Given the description of an element on the screen output the (x, y) to click on. 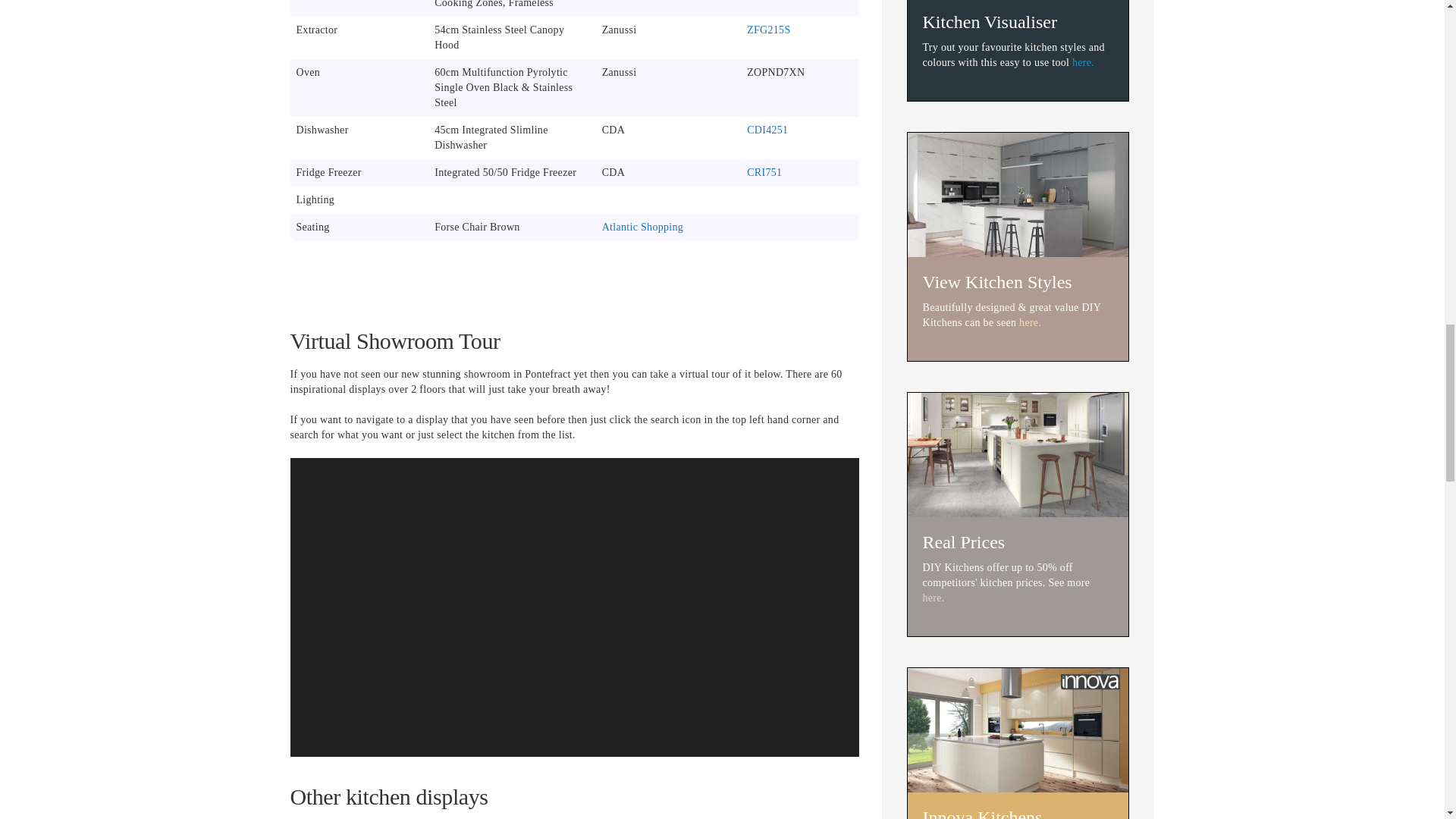
ZFG215S (768, 30)
CRI751 (763, 172)
Atlantic Shopping (642, 226)
CDI4251 (766, 129)
